Given the description of an element on the screen output the (x, y) to click on. 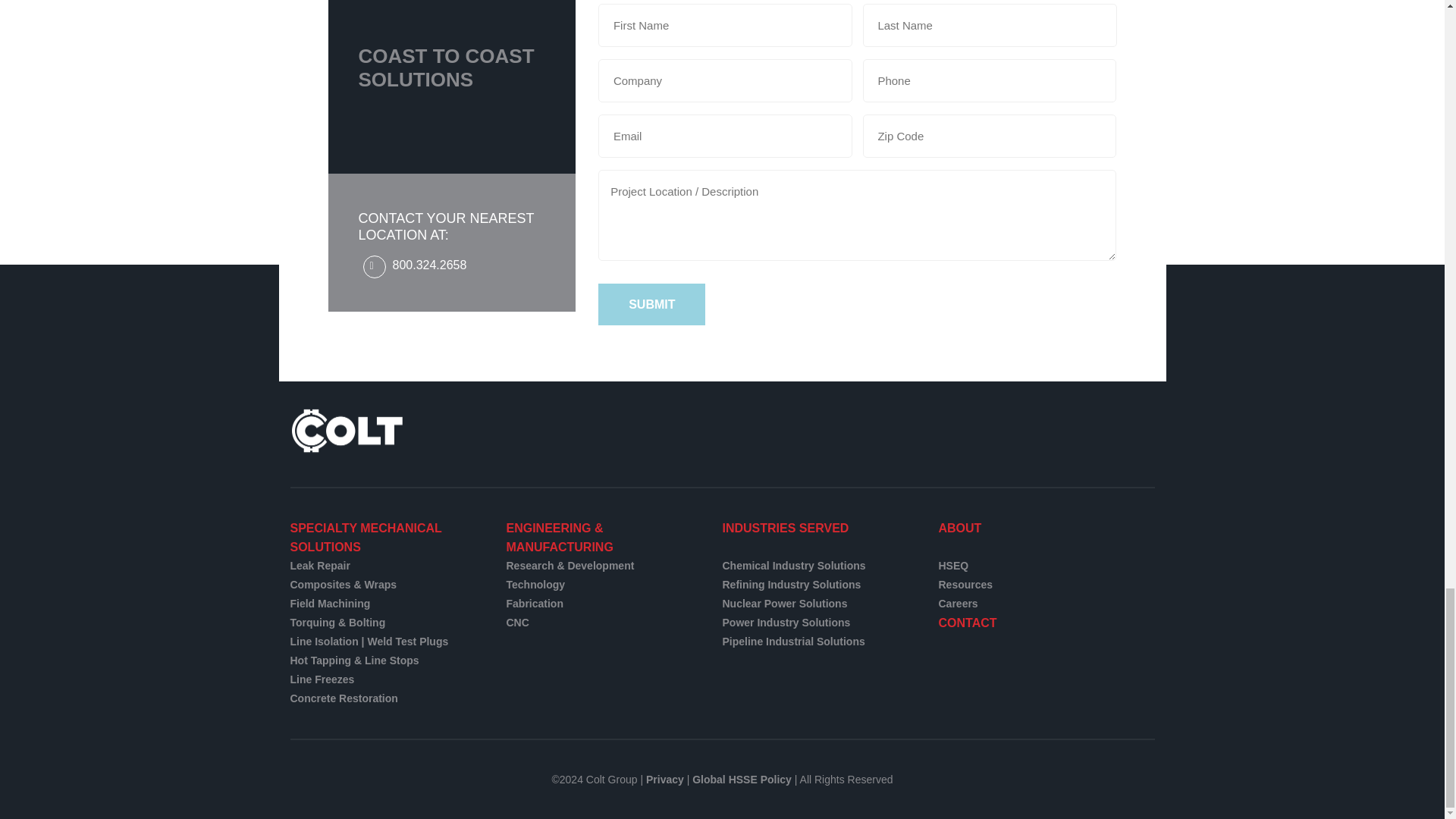
Submit (651, 304)
